Given the description of an element on the screen output the (x, y) to click on. 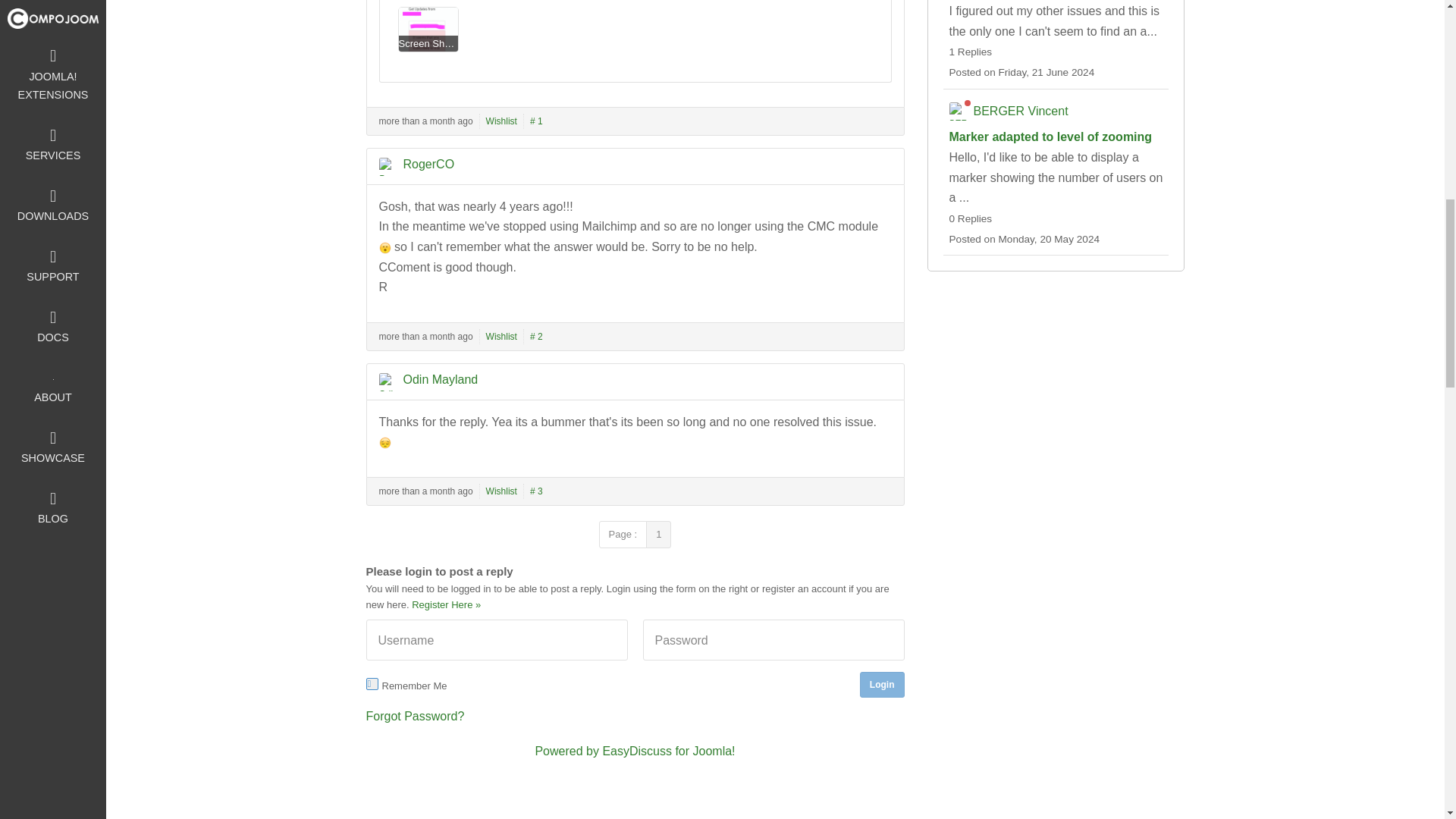
Login (882, 684)
